Given the description of an element on the screen output the (x, y) to click on. 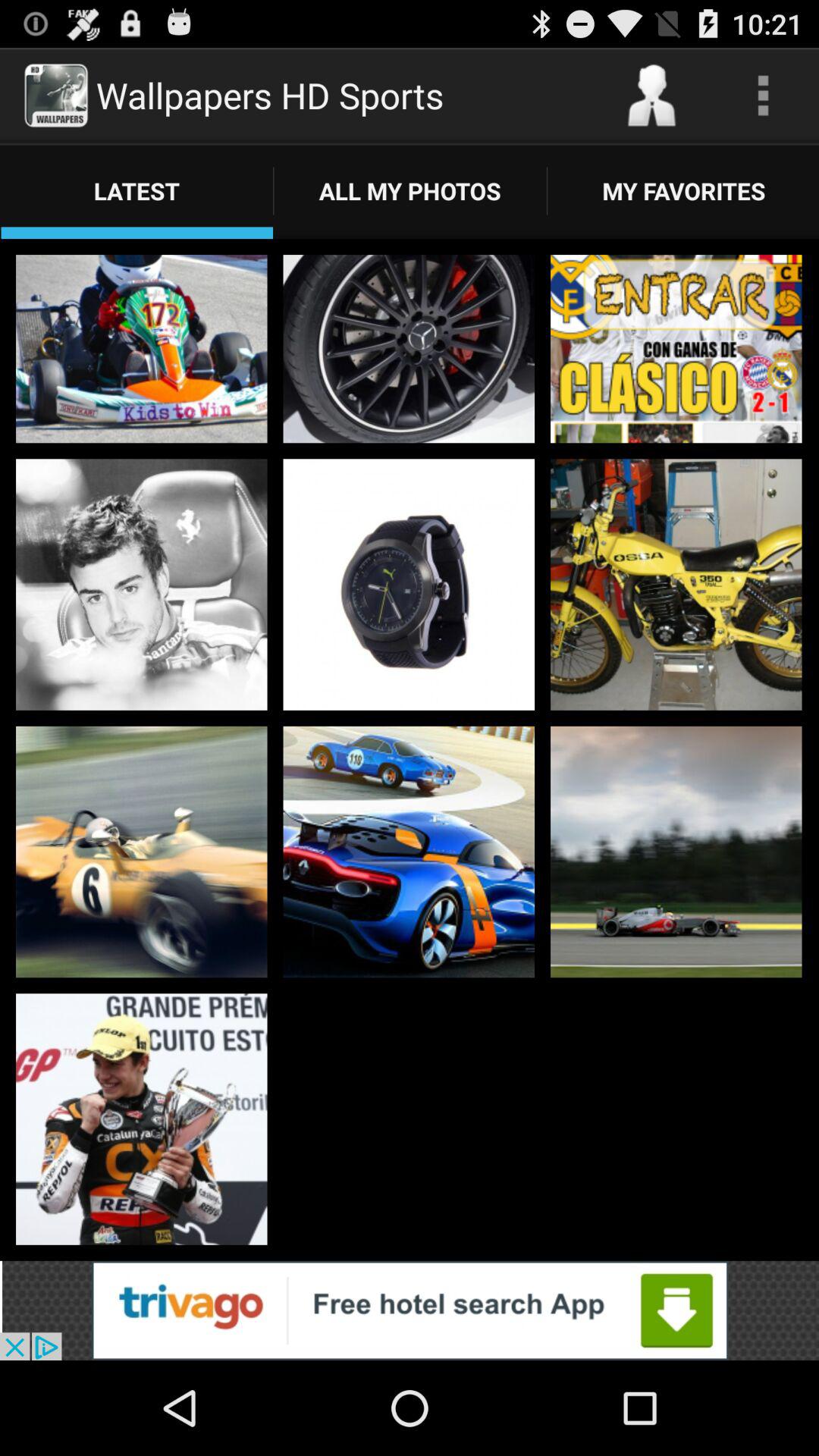
opens advertisement (409, 1310)
